Given the description of an element on the screen output the (x, y) to click on. 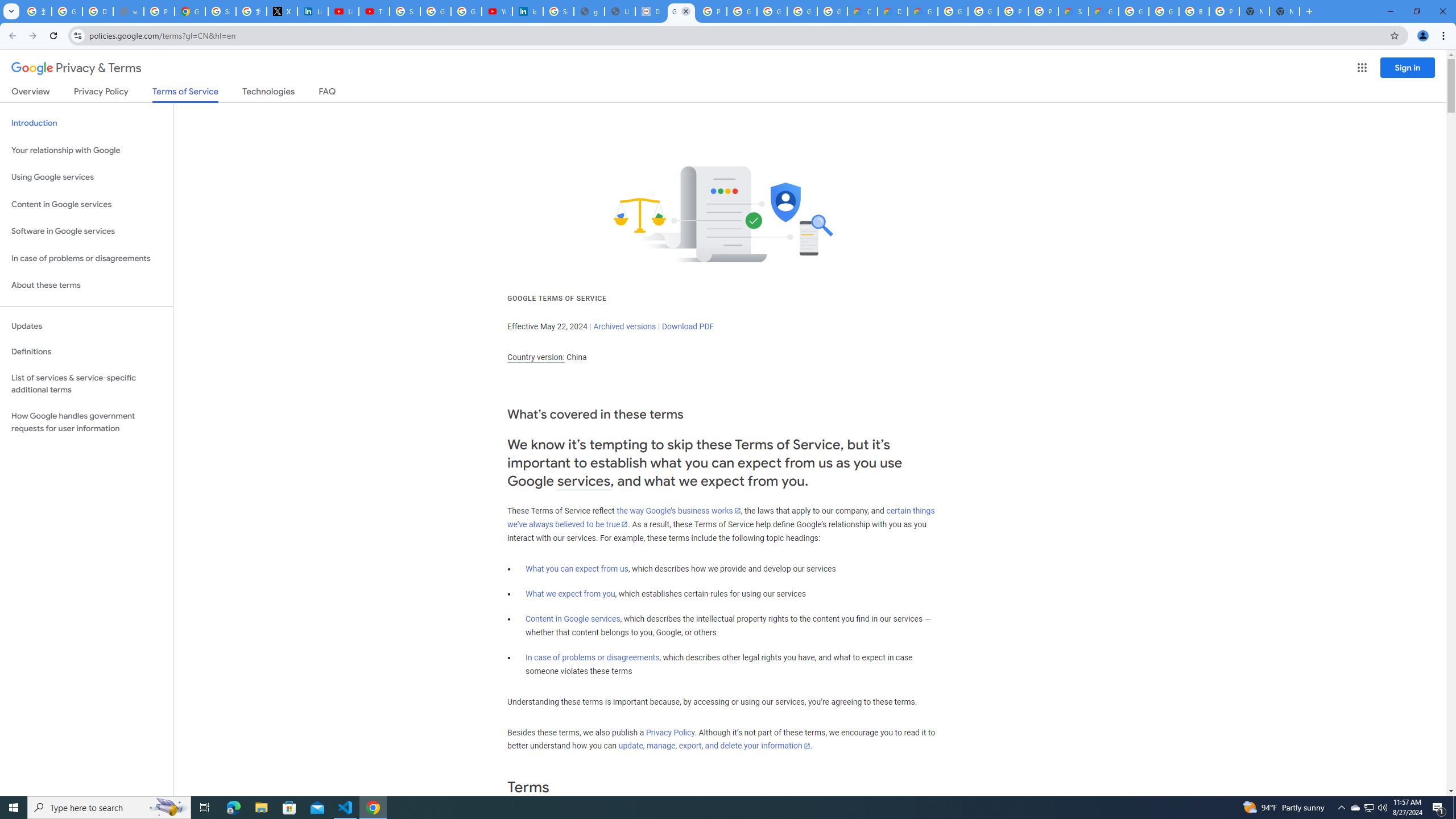
How Google handles government requests for user information (86, 422)
support.google.com - Network error (127, 11)
LinkedIn - YouTube (343, 11)
Sign in - Google Accounts (220, 11)
Support Hub | Google Cloud (1072, 11)
Country version: (535, 357)
